Given the description of an element on the screen output the (x, y) to click on. 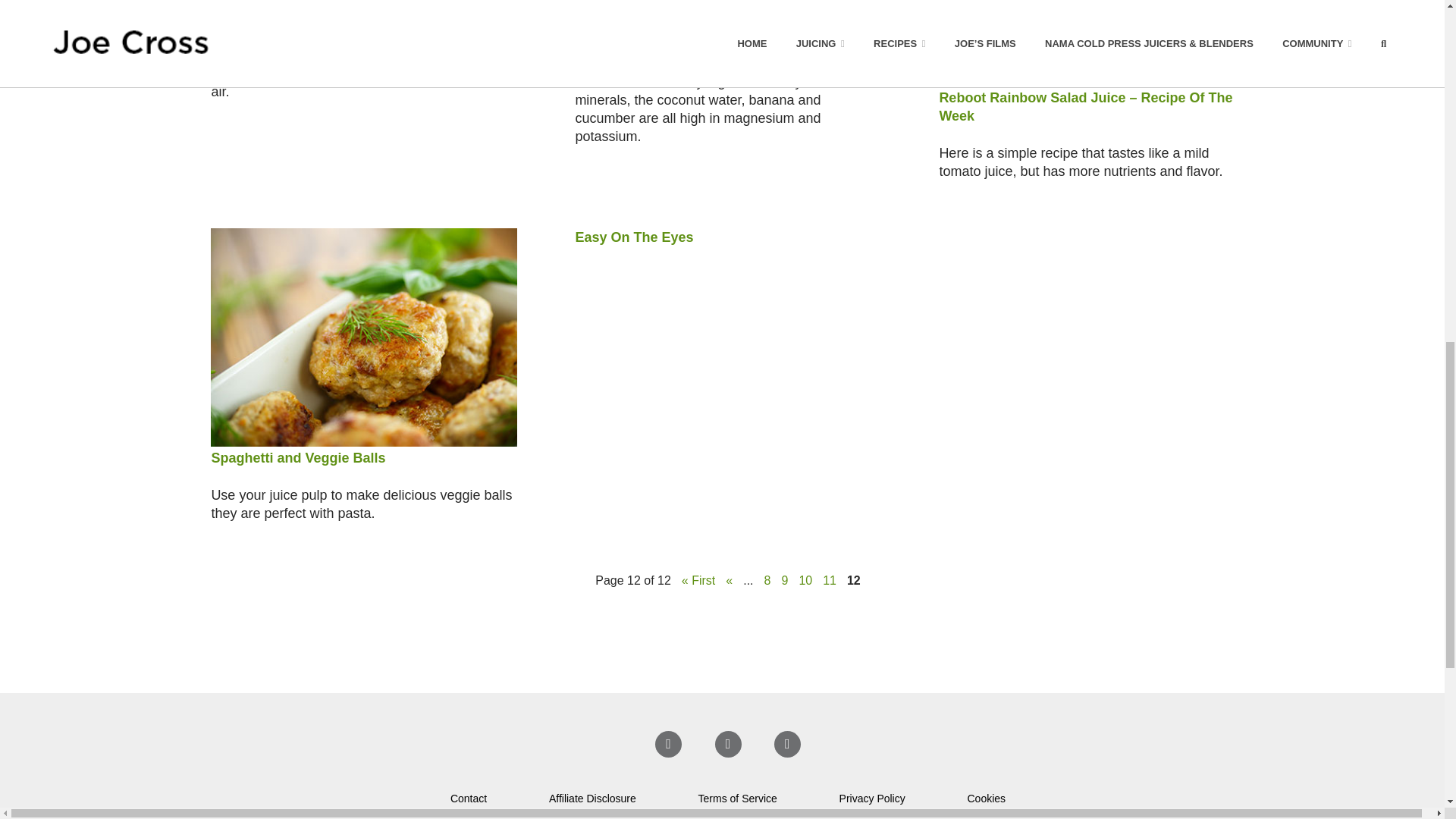
Page 11 (829, 579)
Page 10 (804, 579)
